Given the description of an element on the screen output the (x, y) to click on. 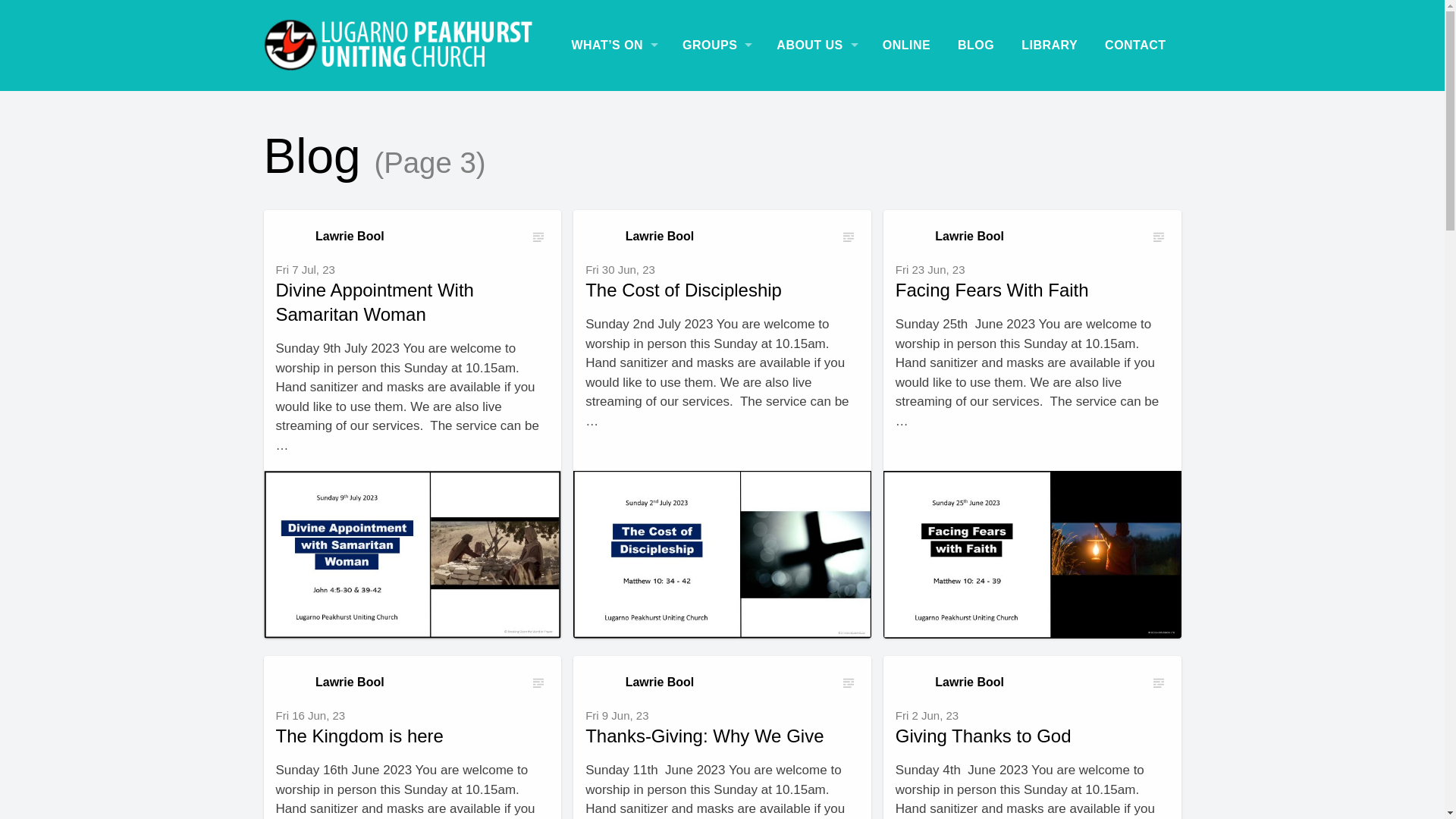
Lawrie Bool Element type: text (949, 681)
Lawrie Bool Element type: text (639, 235)
ONLINE Element type: text (907, 45)
LIBRARY Element type: text (1050, 45)
ABOUT US Element type: text (816, 45)
Facing Fears With Faith Element type: hover (1032, 554)
Divine Appointment With Samaritan Woman Element type: text (374, 301)
The Kingdom is here Element type: text (359, 735)
CONTACT Element type: text (1136, 45)
Lawrie Bool Element type: text (330, 235)
Giving Thanks to God Element type: text (983, 735)
Lawrie Bool Element type: text (330, 681)
Divine Appointment With Samaritan Woman Element type: hover (412, 554)
Facing Fears With Faith Element type: text (991, 289)
The Cost of Discipleship Element type: text (683, 289)
GROUPS Element type: text (717, 45)
The Cost of Discipleship Element type: hover (722, 554)
Lawrie Bool Element type: text (639, 681)
BLOG Element type: text (977, 45)
Thanks-Giving: Why We Give Element type: text (704, 735)
Lawrie Bool Element type: text (949, 235)
